Given the description of an element on the screen output the (x, y) to click on. 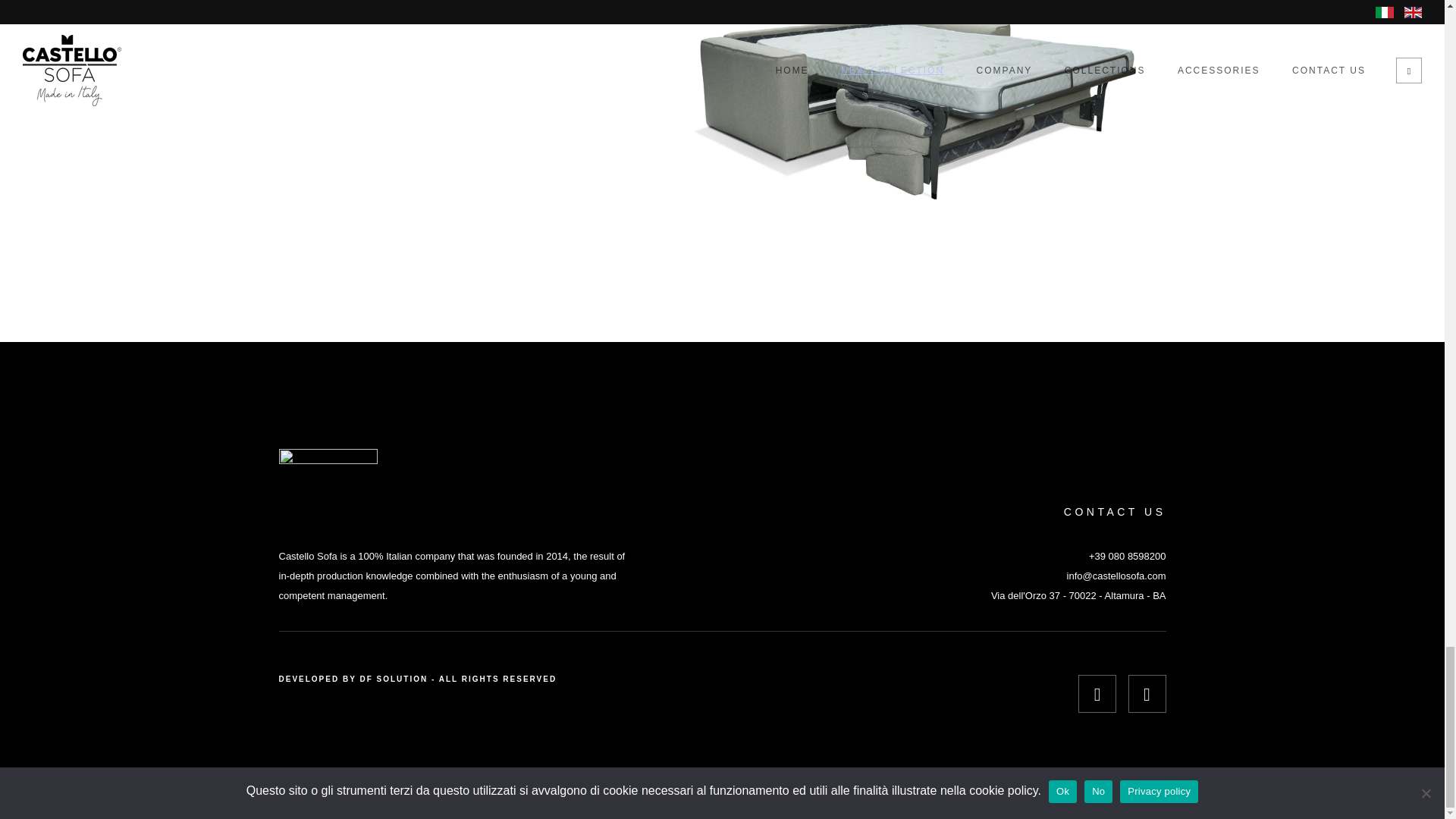
Via dell'Orzo 37 - 70022 - Altamura - BA (1078, 595)
DF SOLUTION (393, 678)
